Given the description of an element on the screen output the (x, y) to click on. 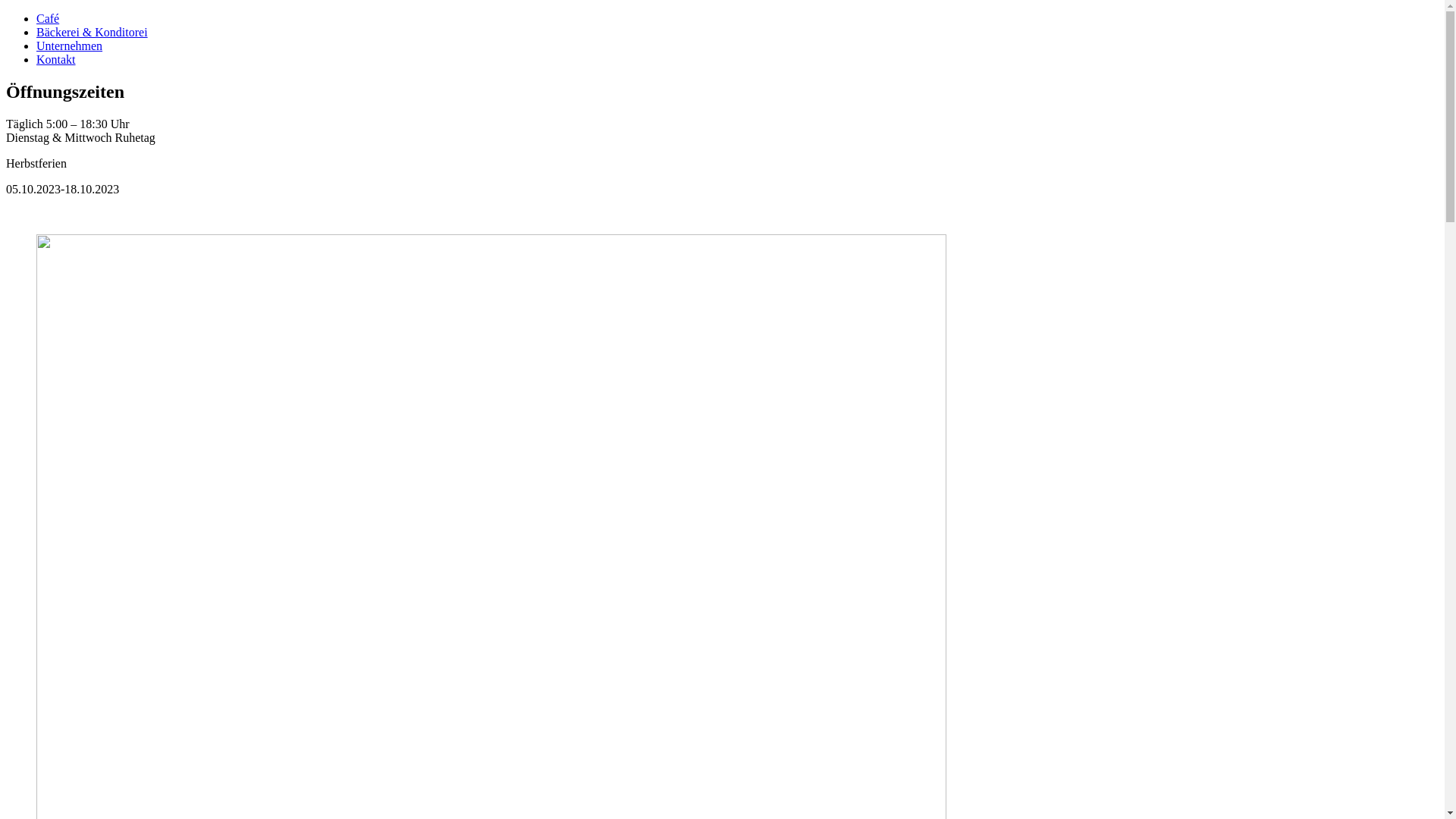
Kontakt Element type: text (55, 59)
Unternehmen Element type: text (69, 45)
